Given the description of an element on the screen output the (x, y) to click on. 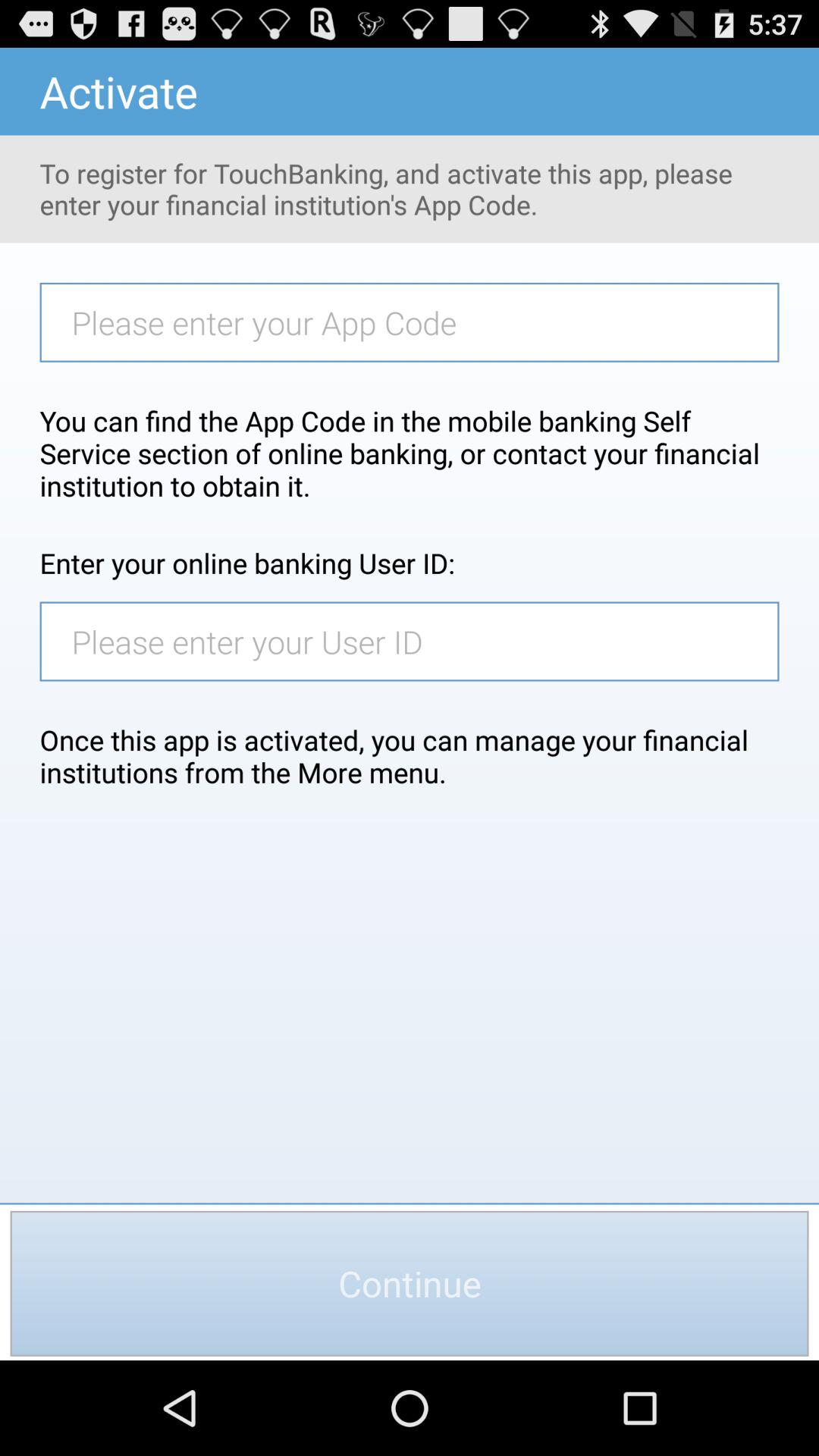
flip until continue (409, 1283)
